Given the description of an element on the screen output the (x, y) to click on. 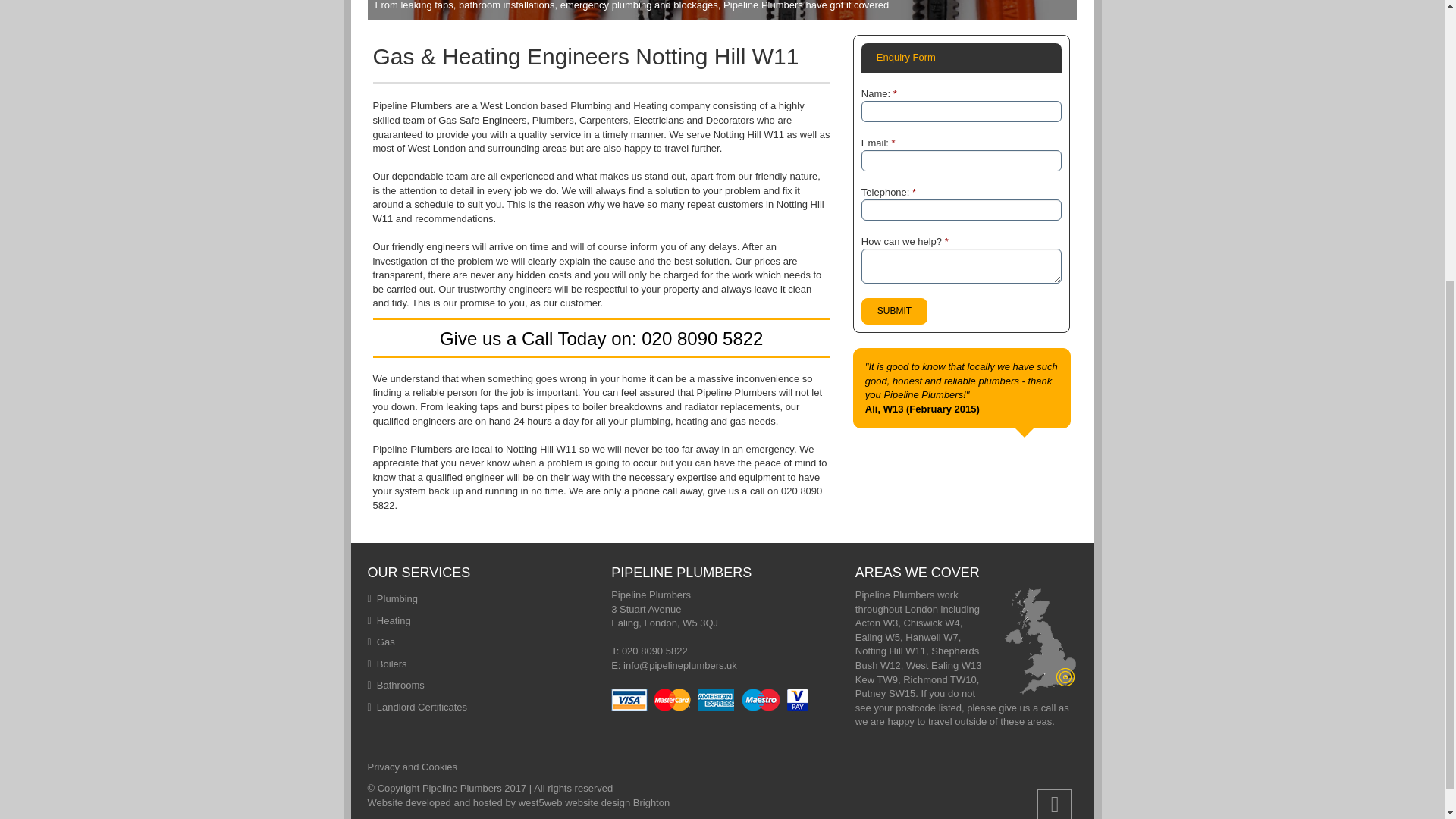
Bathrooms (401, 685)
Heating (393, 620)
Boilers (392, 663)
Gas (385, 641)
Plumbing (397, 598)
Submit (894, 311)
Submit (894, 311)
